Given the description of an element on the screen output the (x, y) to click on. 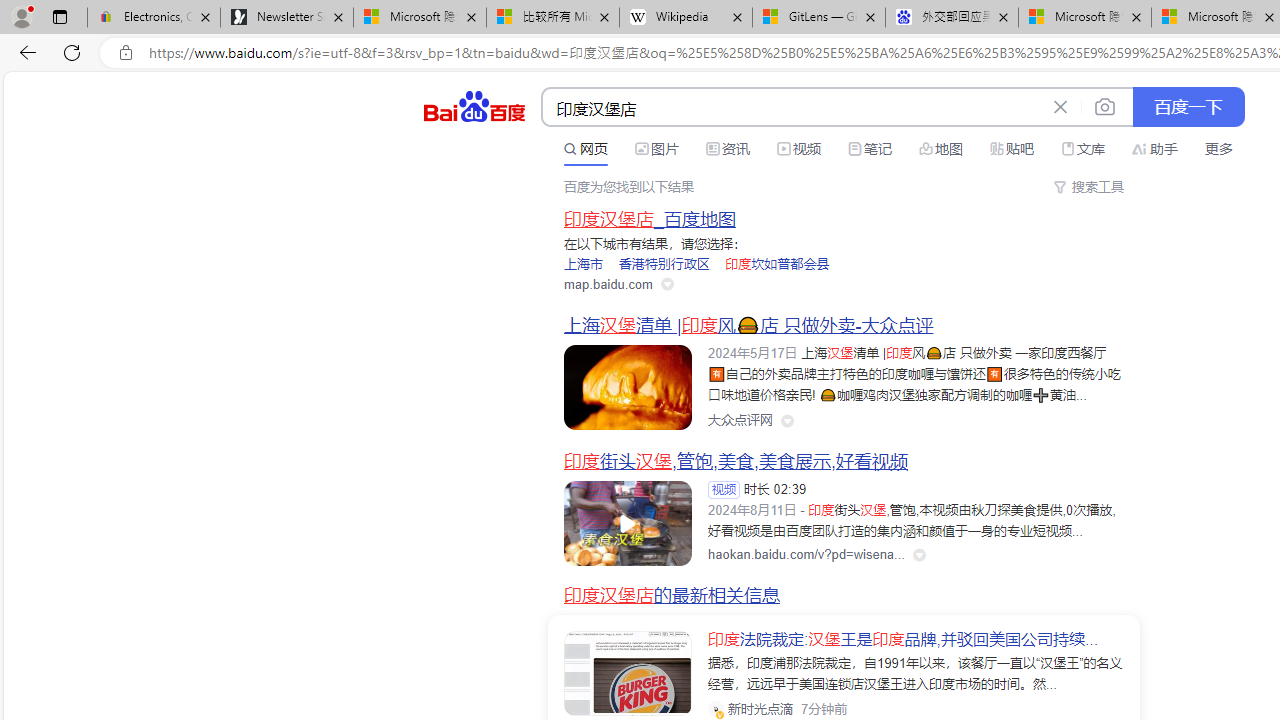
Newsletter Sign Up (287, 17)
Class: siteLink_9TPP3 (740, 421)
Class: c-img c-img-radius-large (628, 673)
